Given the description of an element on the screen output the (x, y) to click on. 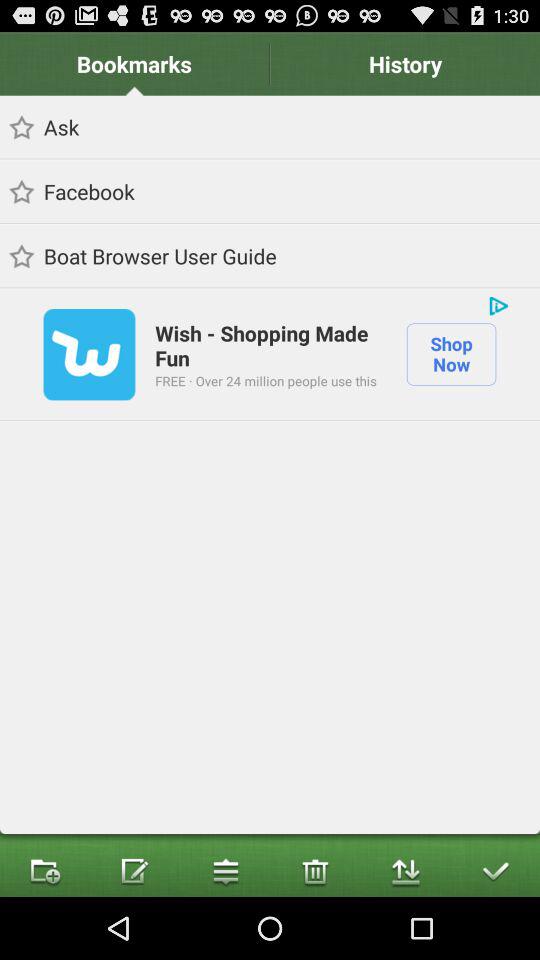
press icon to the left of wish shopping made icon (89, 354)
